Given the description of an element on the screen output the (x, y) to click on. 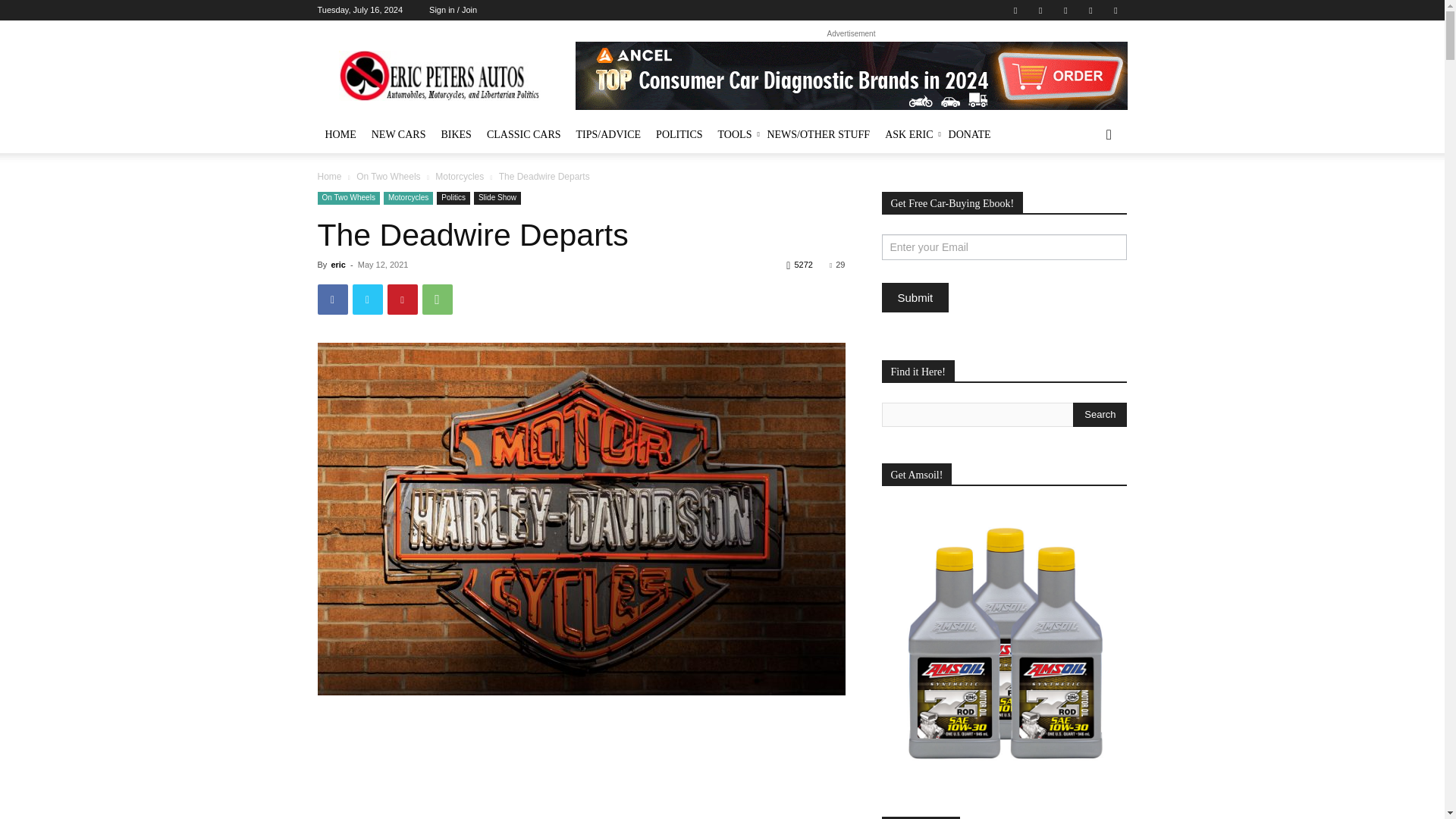
Twitter (1040, 10)
Search (1099, 414)
Facebook (1015, 10)
VKontakte (1090, 10)
Vimeo (1065, 10)
